Given the description of an element on the screen output the (x, y) to click on. 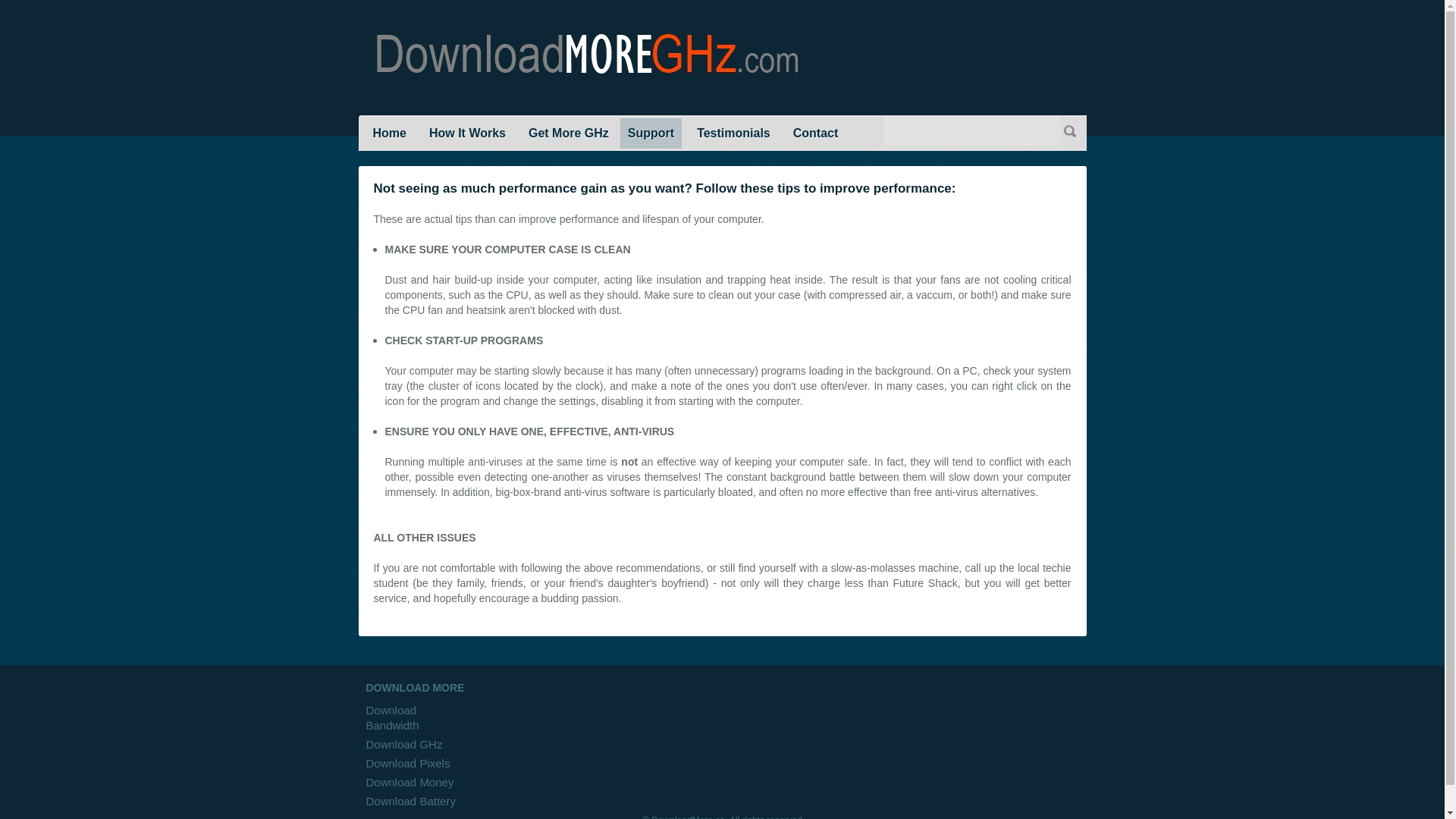
Download Battery (409, 800)
Testimonials (732, 132)
Download GHz (403, 744)
Download Bandwidth (392, 717)
How It Works (467, 132)
Download Pixels (407, 762)
Download Money (408, 781)
Home (389, 132)
Support (650, 132)
Get More GHz (568, 132)
